Given the description of an element on the screen output the (x, y) to click on. 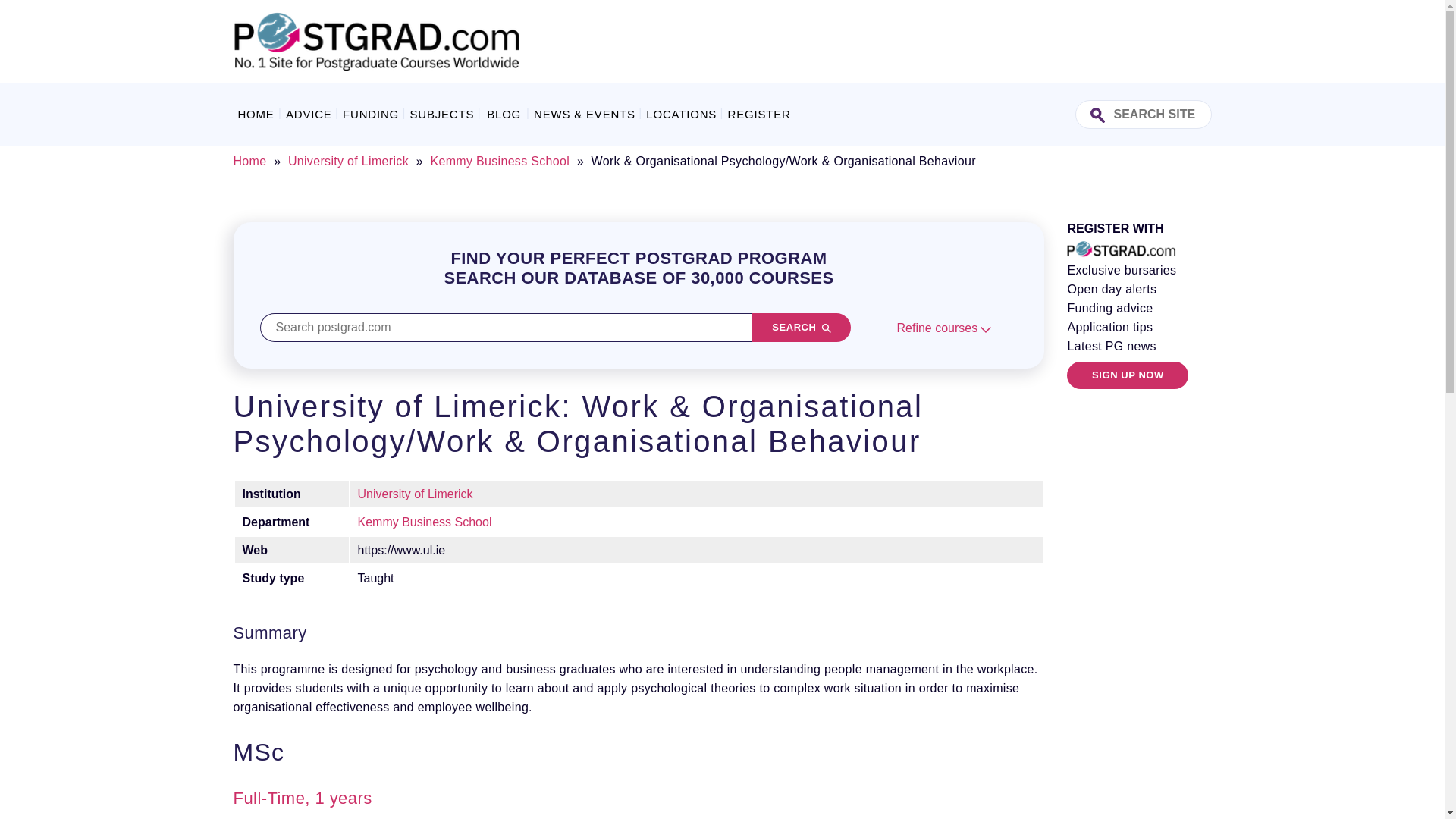
Search Site: (1143, 113)
SUBJECTS (441, 113)
FUNDING (371, 113)
HOME (255, 113)
ADVICE (309, 113)
